Given the description of an element on the screen output the (x, y) to click on. 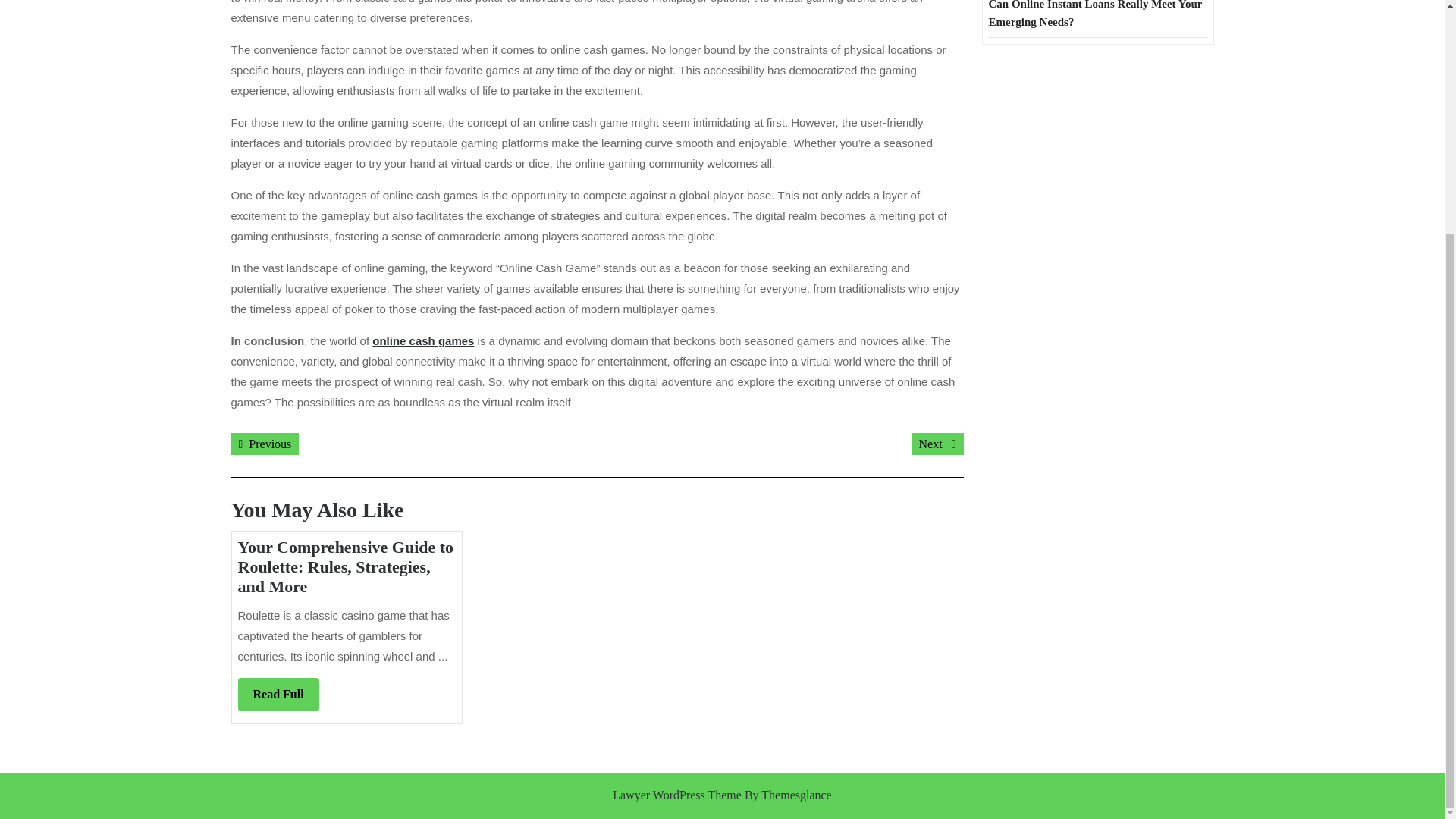
online cash games (423, 340)
Lawyer WordPress Theme (676, 794)
Can Online Instant Loans Really Meet Your Emerging Needs? (264, 444)
